Given the description of an element on the screen output the (x, y) to click on. 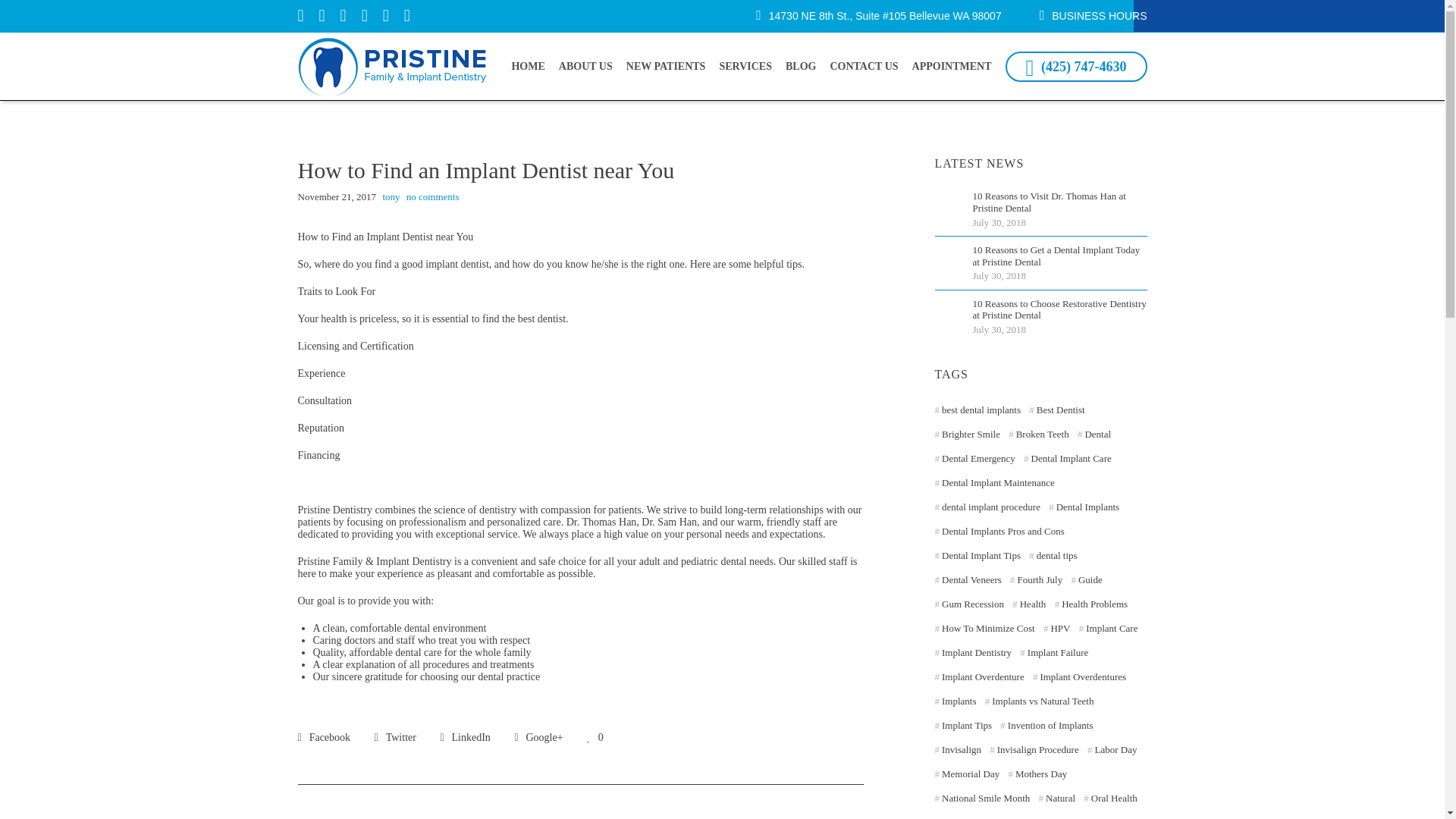
How to Find an Implant Dentist near You (395, 736)
How to Find an Implant Dentist near You (323, 736)
NEW PATIENTS (666, 66)
HOME (527, 66)
SERVICES (744, 66)
How to Find an Implant Dentist near You (464, 736)
BUSINESS HOURS (1099, 15)
ABOUT US (585, 66)
Pristine Dental Bellevue (391, 66)
How to Find an Implant Dentist near You (537, 736)
